Given the description of an element on the screen output the (x, y) to click on. 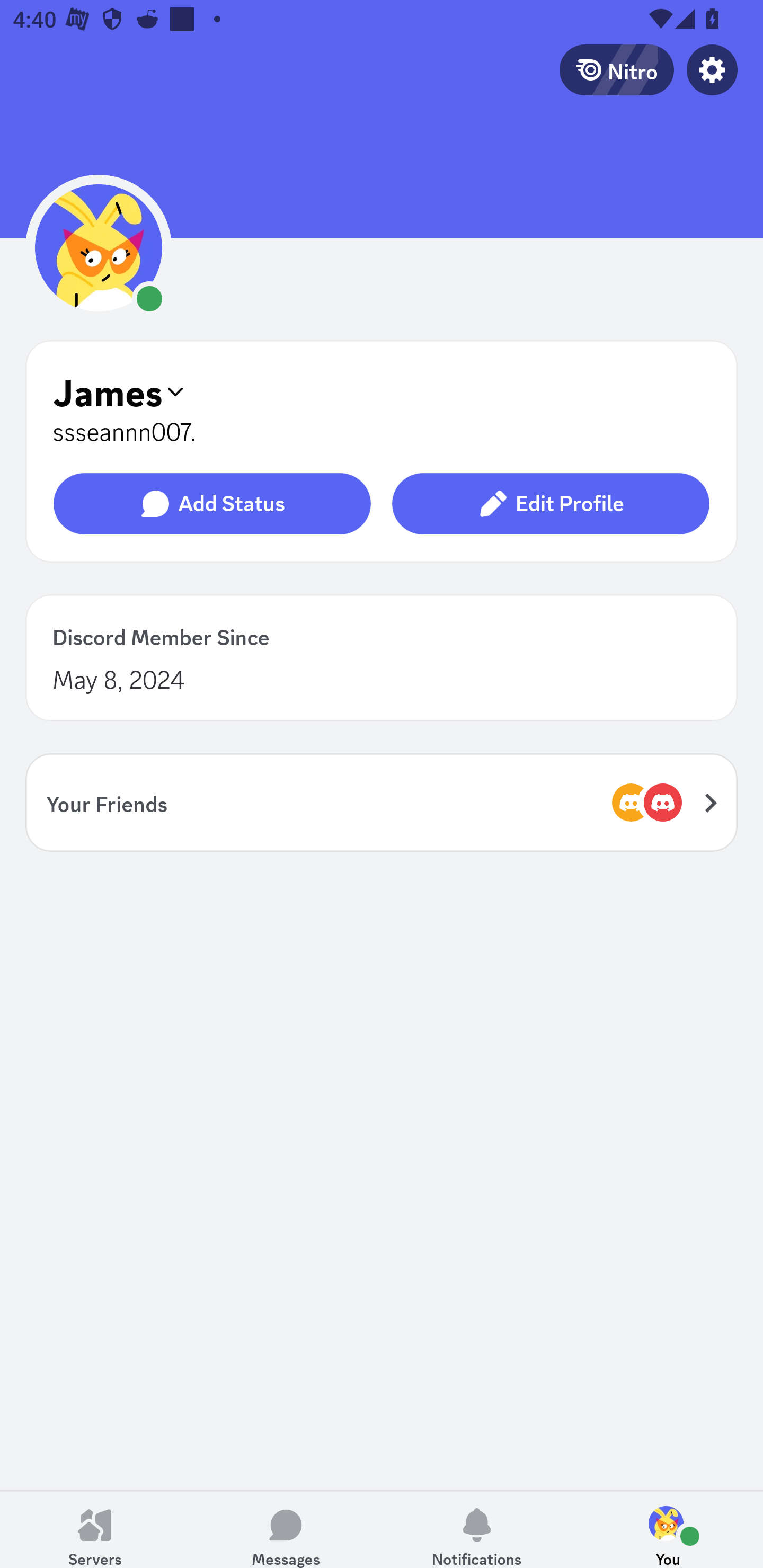
Nitro (616, 69)
Settings (711, 69)
James (381, 390)
Add Status (212, 503)
Edit Profile (550, 503)
Your Friends (381, 801)
Servers (95, 1529)
Messages (285, 1529)
Notifications (476, 1529)
You (667, 1529)
